Given the description of an element on the screen output the (x, y) to click on. 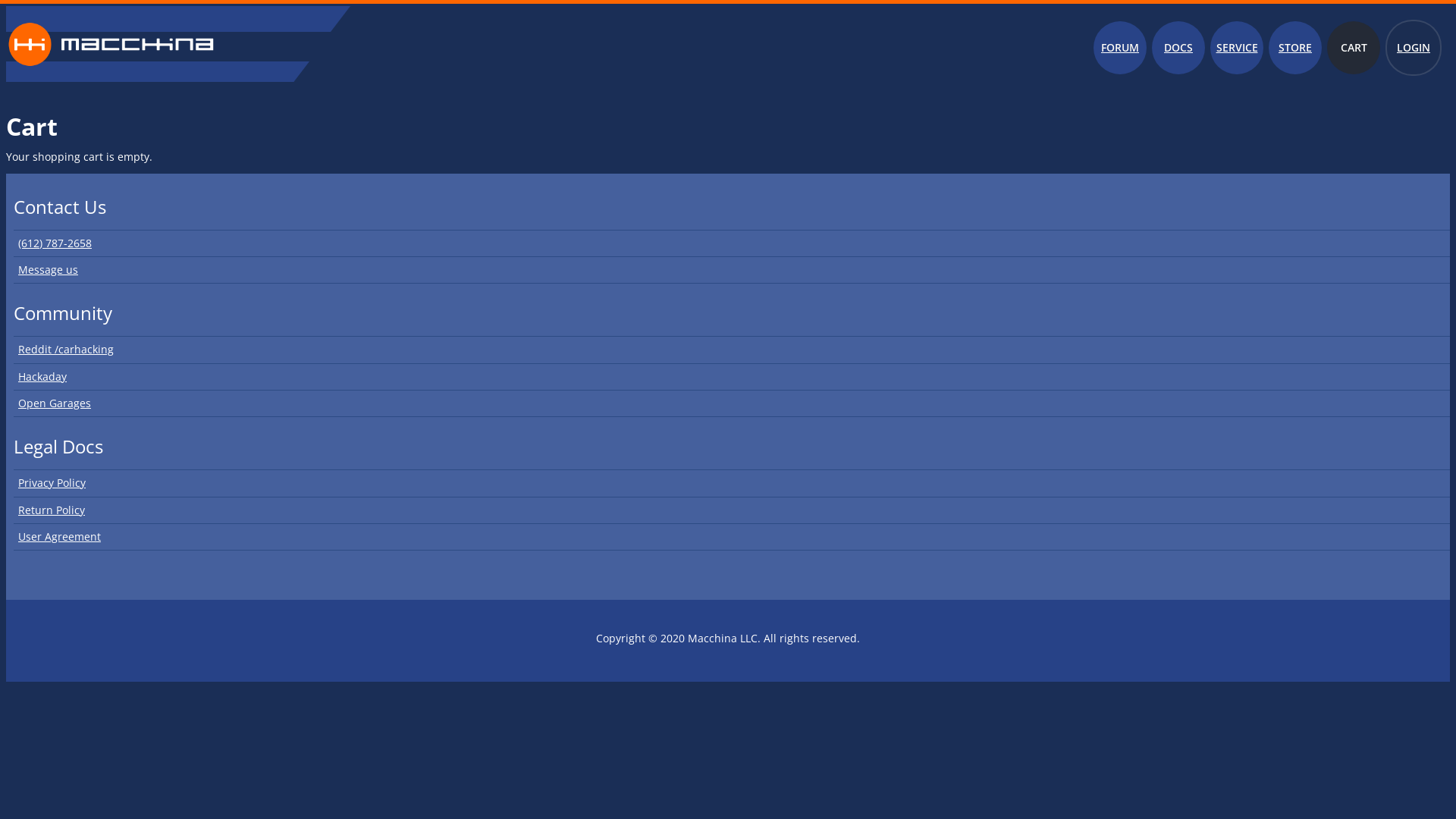
Hackaday Element type: text (731, 377)
SERVICE Element type: text (1236, 47)
LOGIN Element type: text (1413, 47)
Reddit /carhacking Element type: text (731, 349)
FORUM Element type: text (1119, 47)
Return Policy Element type: text (731, 510)
Home Element type: hover (110, 78)
Message us Element type: text (731, 270)
Skip to main content Element type: text (58, 6)
User Agreement Element type: text (731, 537)
Open Garages Element type: text (731, 403)
DOCS Element type: text (1177, 47)
(612) 787-2658 Element type: text (731, 243)
Cart
Your shopping cart is empty. Element type: text (727, 89)
STORE Element type: text (1294, 47)
Privacy Policy Element type: text (731, 482)
CART Element type: text (1353, 47)
